Given the description of an element on the screen output the (x, y) to click on. 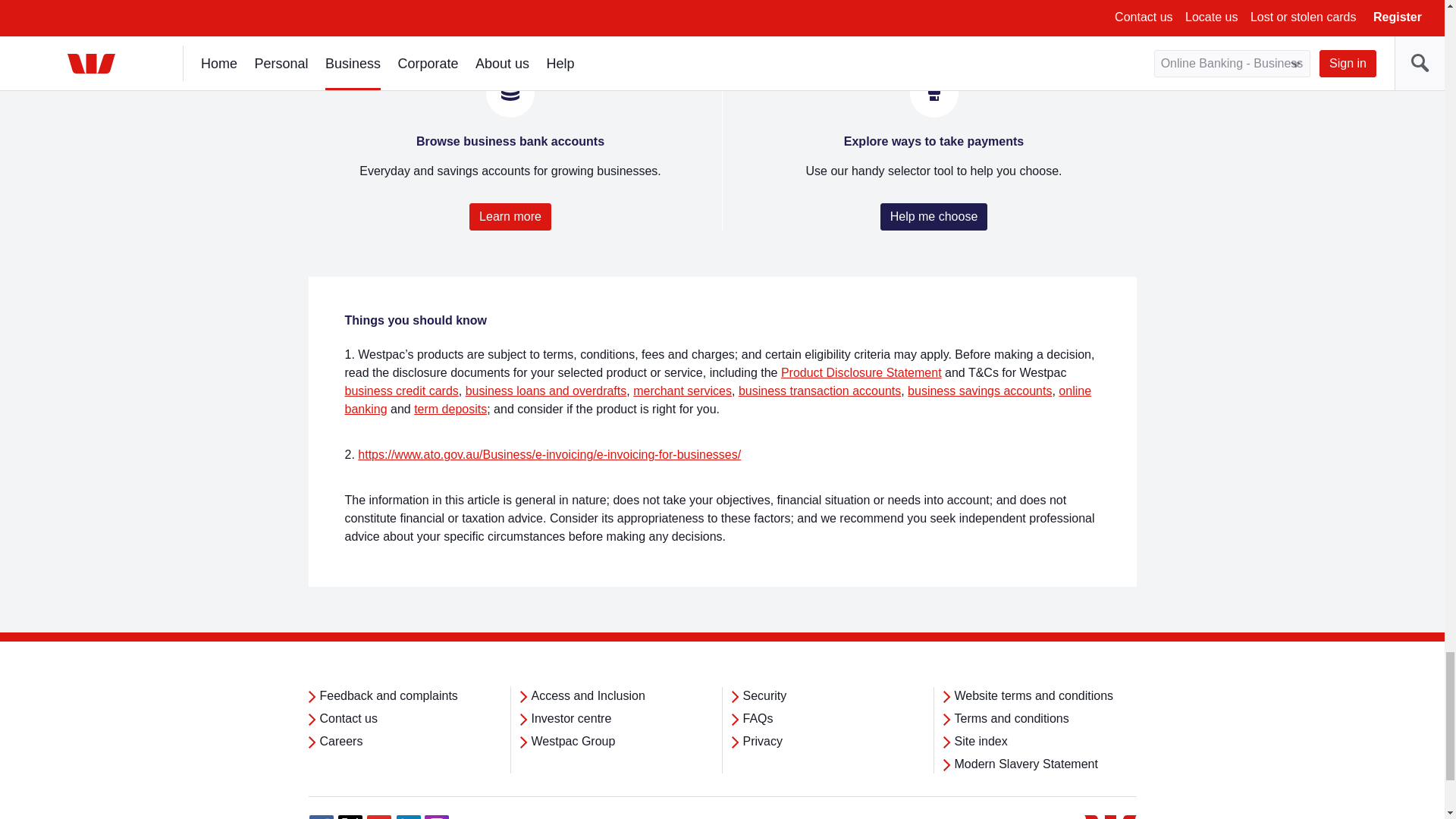
Youtube (378, 816)
Facebook (320, 816)
LinkedIn (408, 816)
Eftpos (933, 91)
Twitter (349, 816)
Account (509, 91)
Instagram (436, 816)
